Given the description of an element on the screen output the (x, y) to click on. 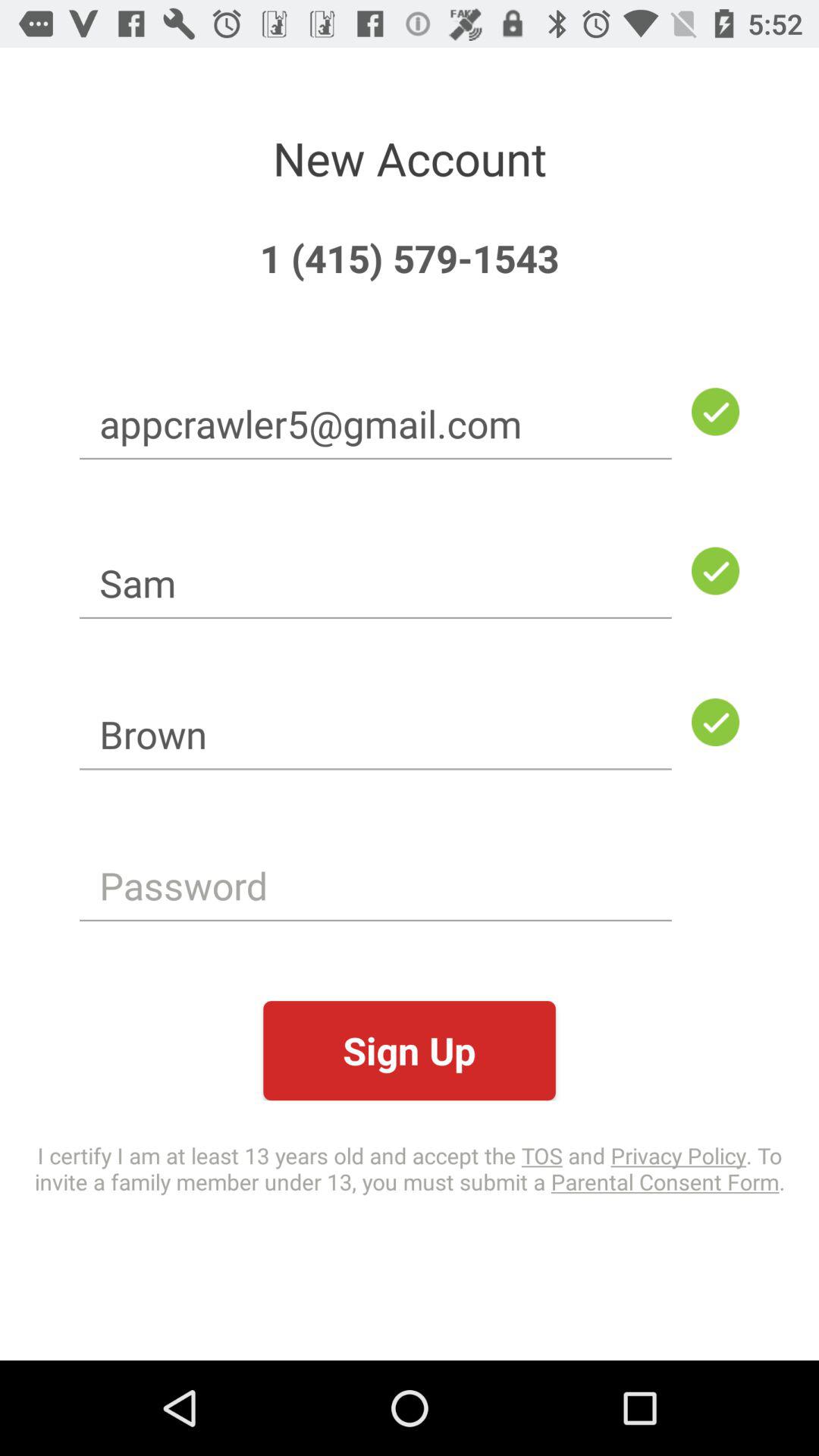
scroll until the i certify i item (409, 1168)
